Given the description of an element on the screen output the (x, y) to click on. 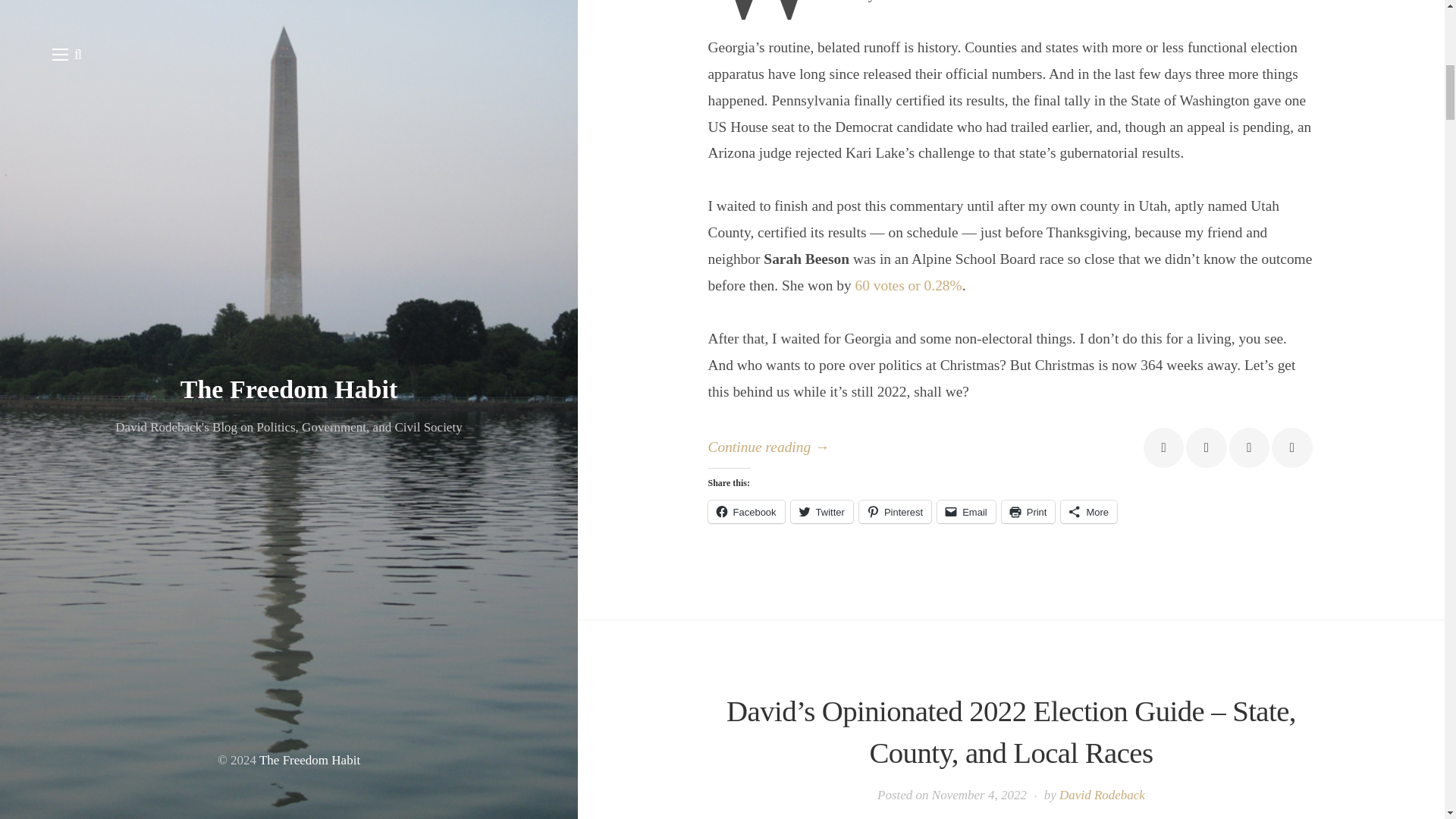
Click to share on Pinterest (895, 511)
Click to email a link to a friend (966, 511)
Tweet It (1205, 447)
Share on Facebook (1162, 447)
Click to share on Facebook (745, 511)
Share on Tumblr (1291, 447)
Click to print (1028, 511)
Pin It (1248, 447)
Click to share on Twitter (821, 511)
